Given the description of an element on the screen output the (x, y) to click on. 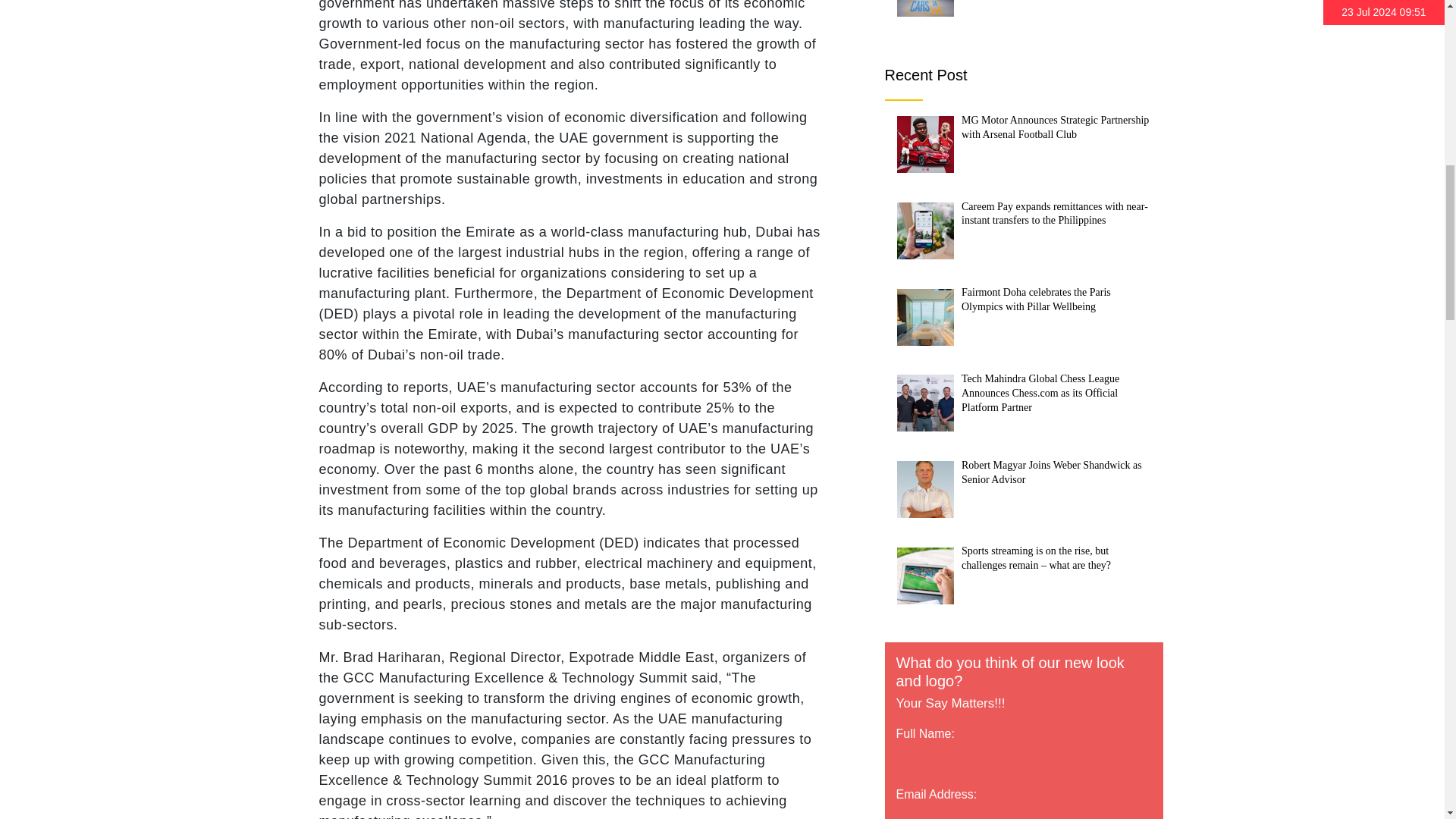
CARS24 Expands its UAE Operations (924, 7)
